Given the description of an element on the screen output the (x, y) to click on. 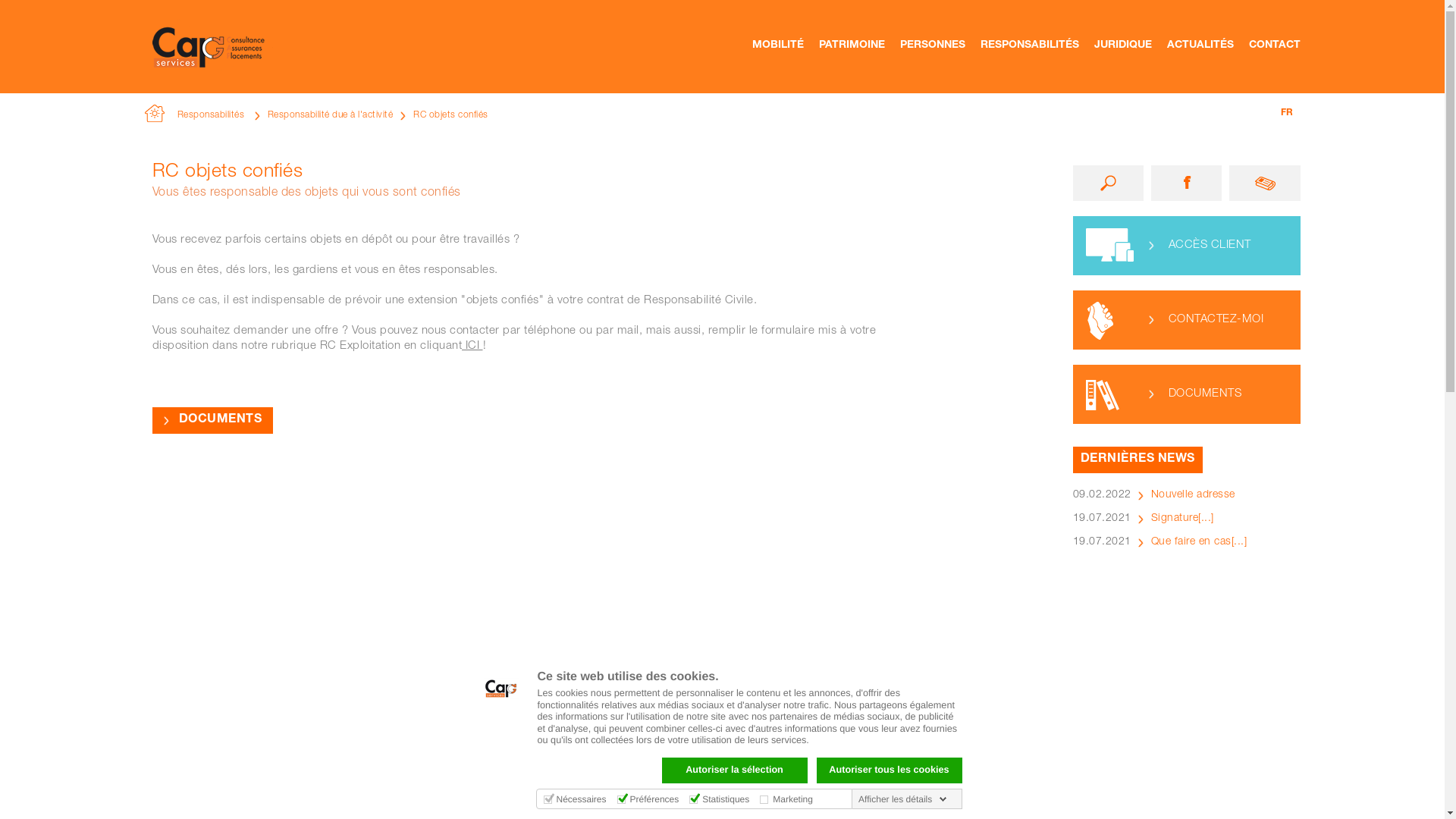
DOCUMENTS Element type: text (1185, 393)
Cap G Element type: hover (211, 68)
Transcribe: Translation not found. Element type: hover (1107, 182)
Nouvelle adresse Element type: text (1193, 494)
Autoriser tous les cookies Element type: text (888, 770)
Que faire en cas[...] Element type: text (1199, 541)
Facebook Element type: hover (1186, 182)
Signature[...] Element type: text (1182, 518)
CONTACT Element type: text (1273, 64)
DOCUMENTS Element type: text (212, 420)
Newsletter Element type: hover (1264, 182)
ICI Element type: text (472, 345)
